Given the description of an element on the screen output the (x, y) to click on. 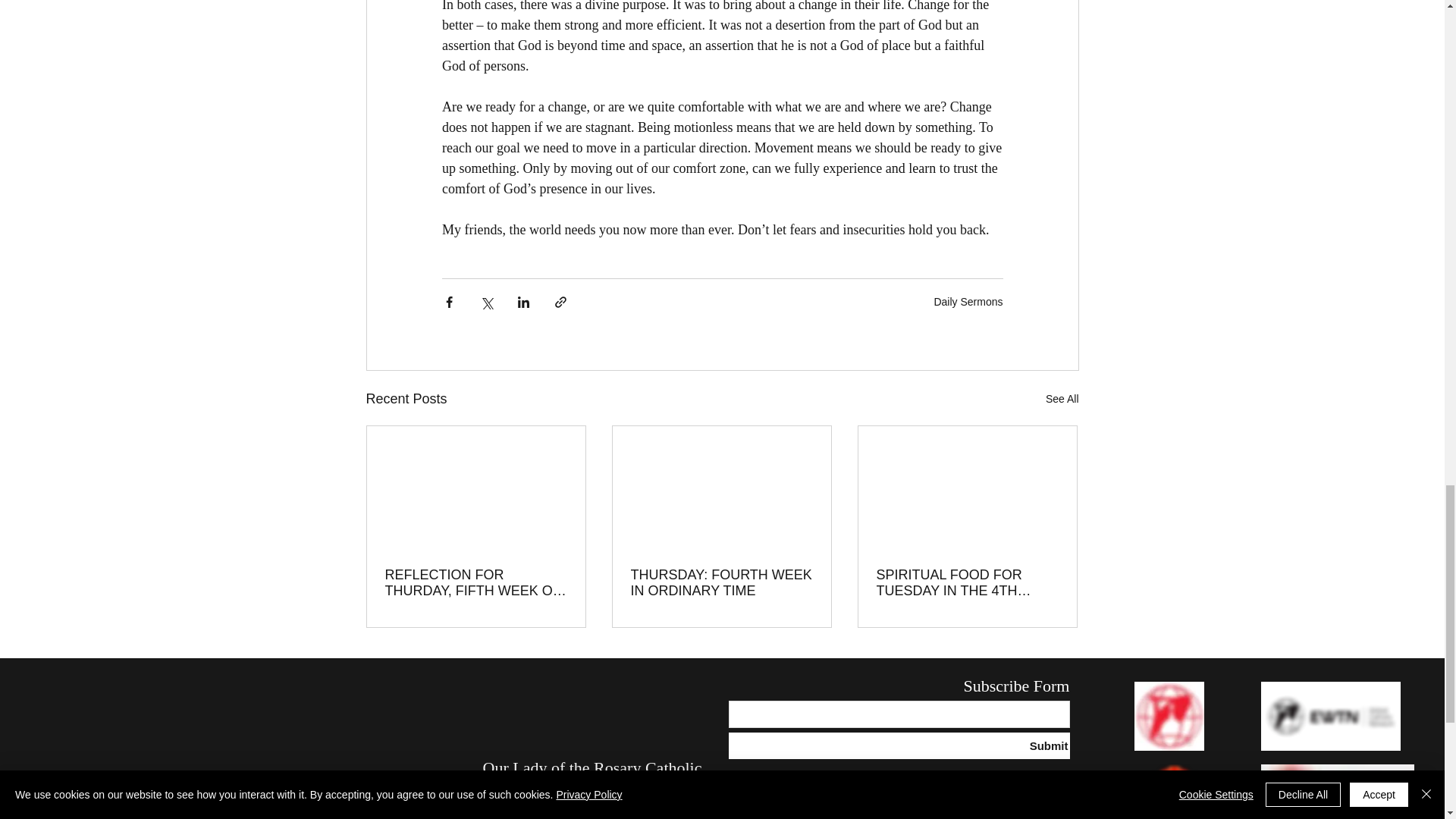
REFLECTION FOR THURDAY, FIFTH WEEK OF ORDINARY TIME. (476, 582)
Our Lady of the Rosary Catholic Parish. (591, 779)
OLRlogo copy.png (405, 816)
ewtn.png (1329, 716)
caritas nairobi.png (1336, 791)
See All (1061, 399)
AON-logo-6.png (1170, 791)
Ridgeways, Kiambu Road. (571, 812)
CNA.jpg (1169, 716)
